Given the description of an element on the screen output the (x, y) to click on. 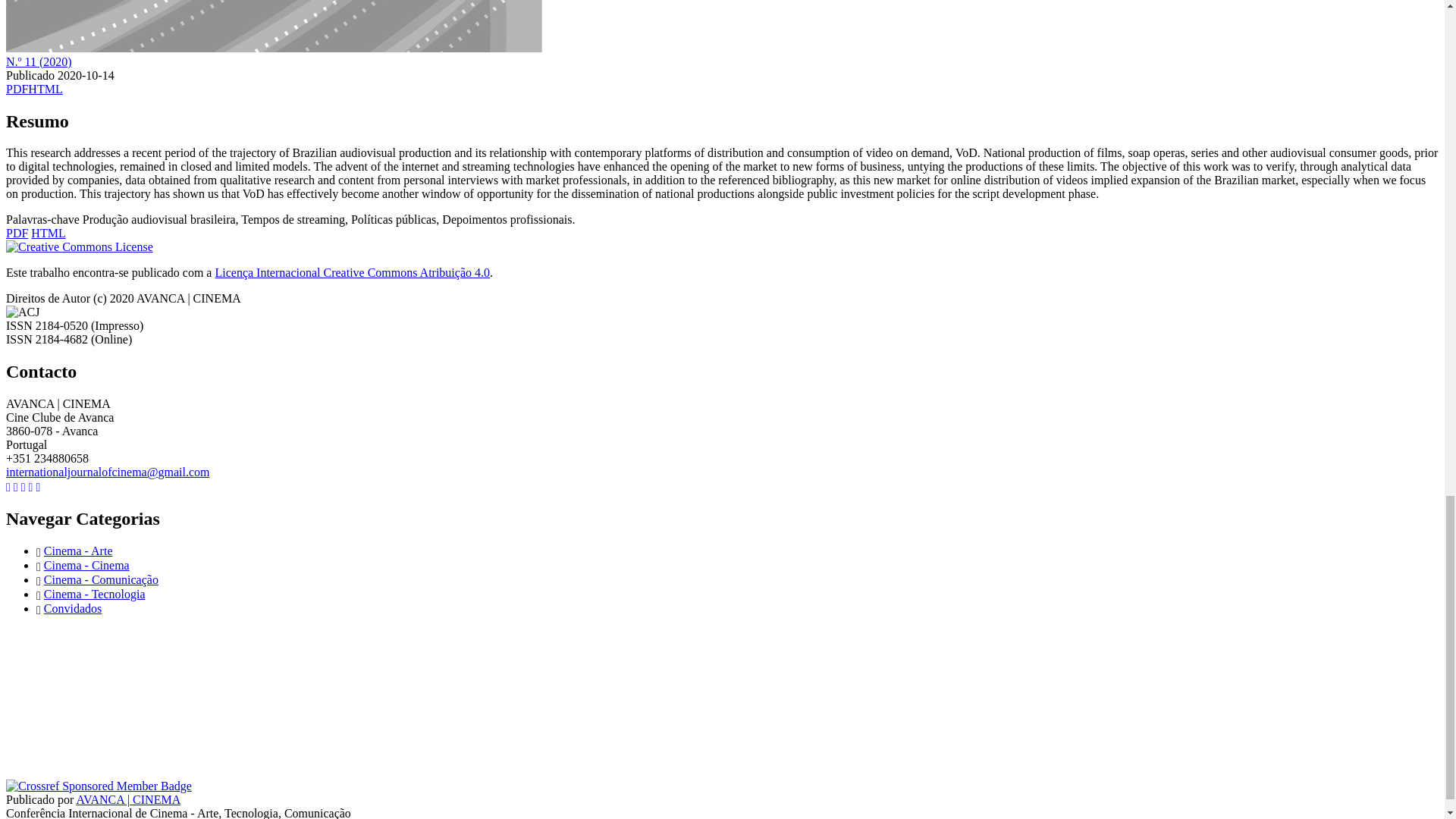
HTML (47, 232)
Cinema - Cinema (86, 564)
Convidados (72, 608)
PDF (16, 232)
HTML (44, 88)
Cinema - Arte (78, 550)
PDF (16, 88)
Cinema - Tecnologia (94, 594)
